Given the description of an element on the screen output the (x, y) to click on. 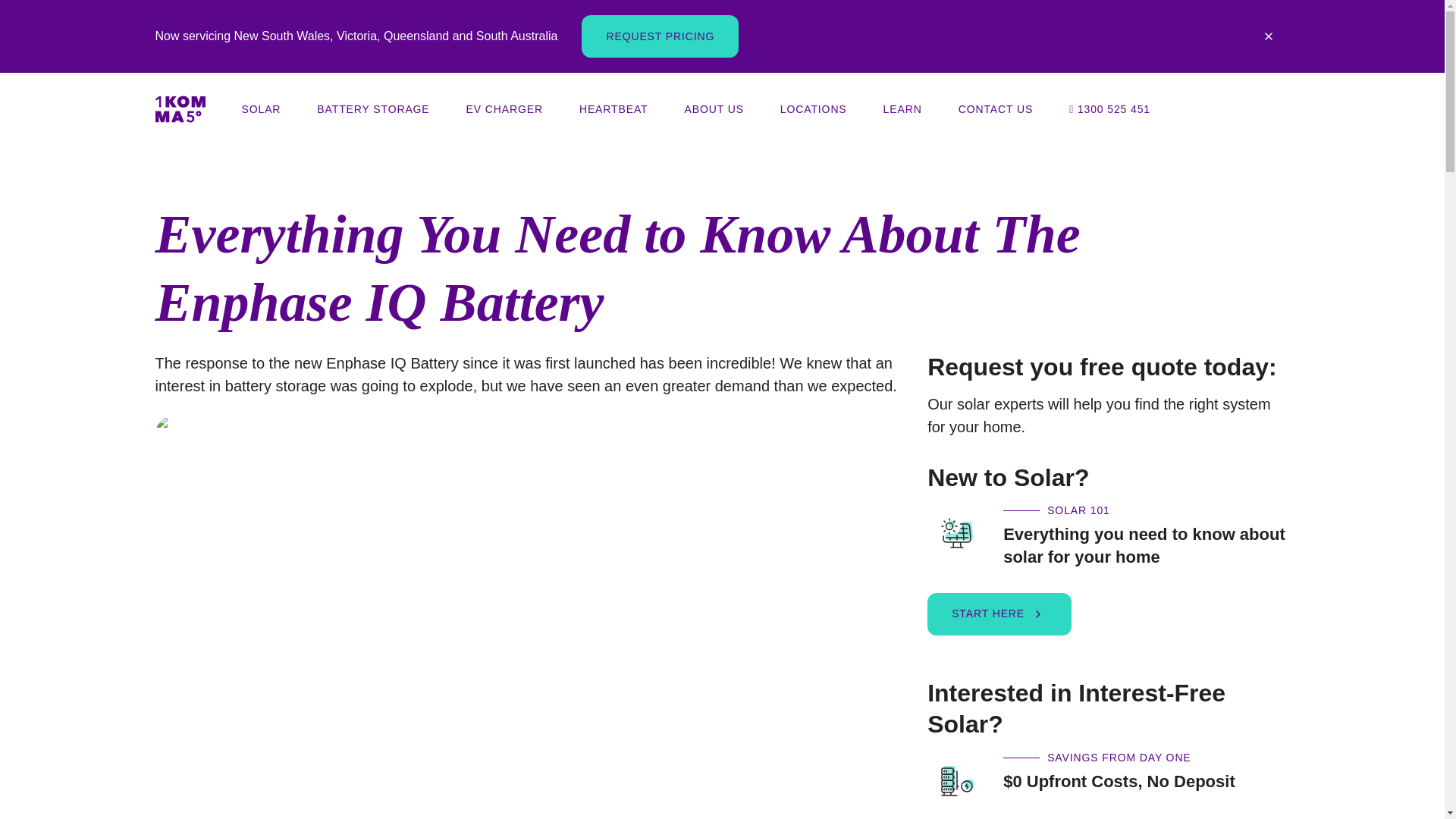
CONTACT US (995, 108)
REQUEST PRICING (659, 36)
